Given the description of an element on the screen output the (x, y) to click on. 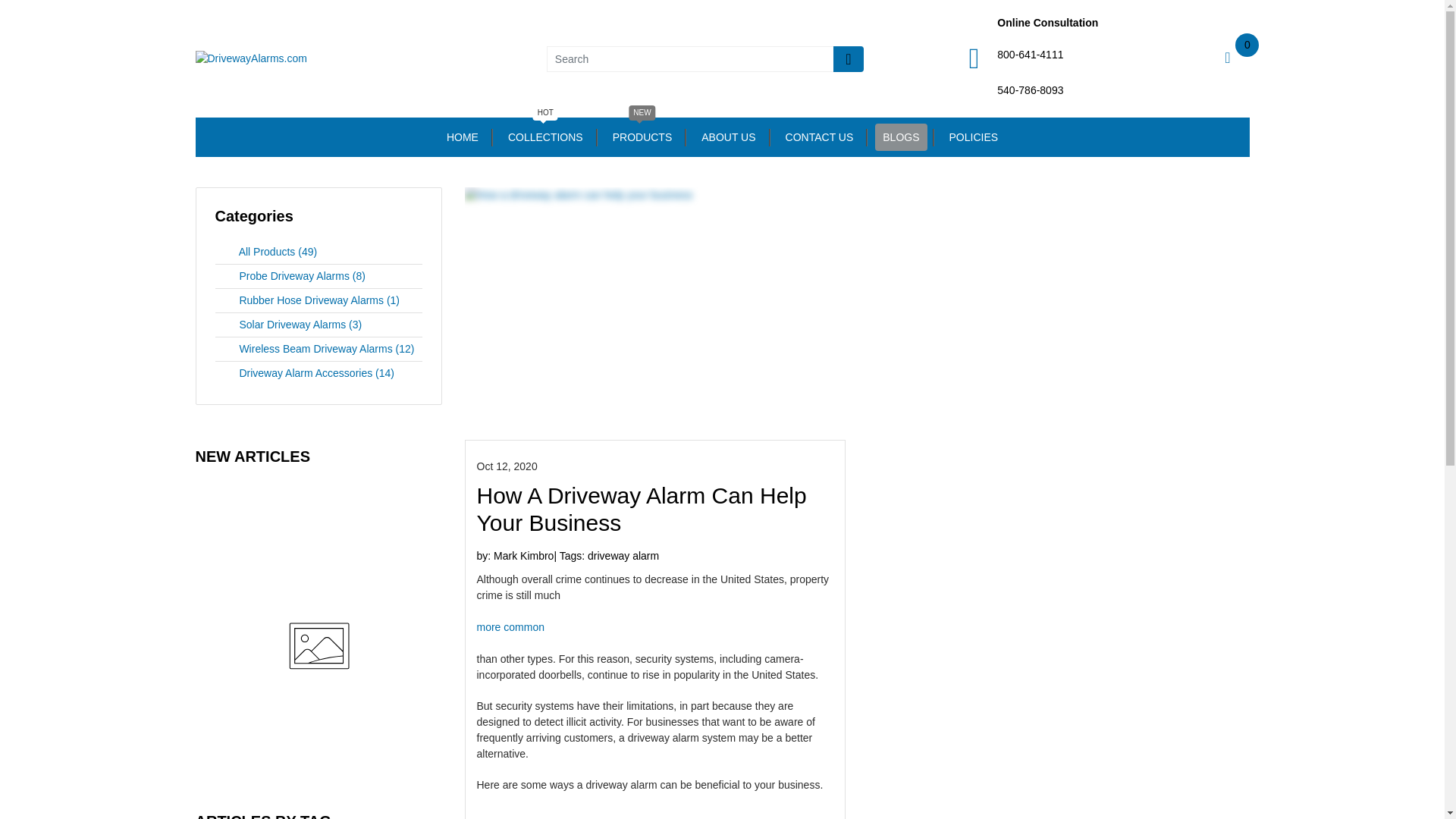
POLICIES (974, 136)
CONTACT US (819, 136)
BLOGS (900, 136)
DrivewayAlarms.com (251, 58)
ABOUT US (728, 136)
HOME (545, 136)
My Bag (462, 136)
0 (1227, 58)
